Given the description of an element on the screen output the (x, y) to click on. 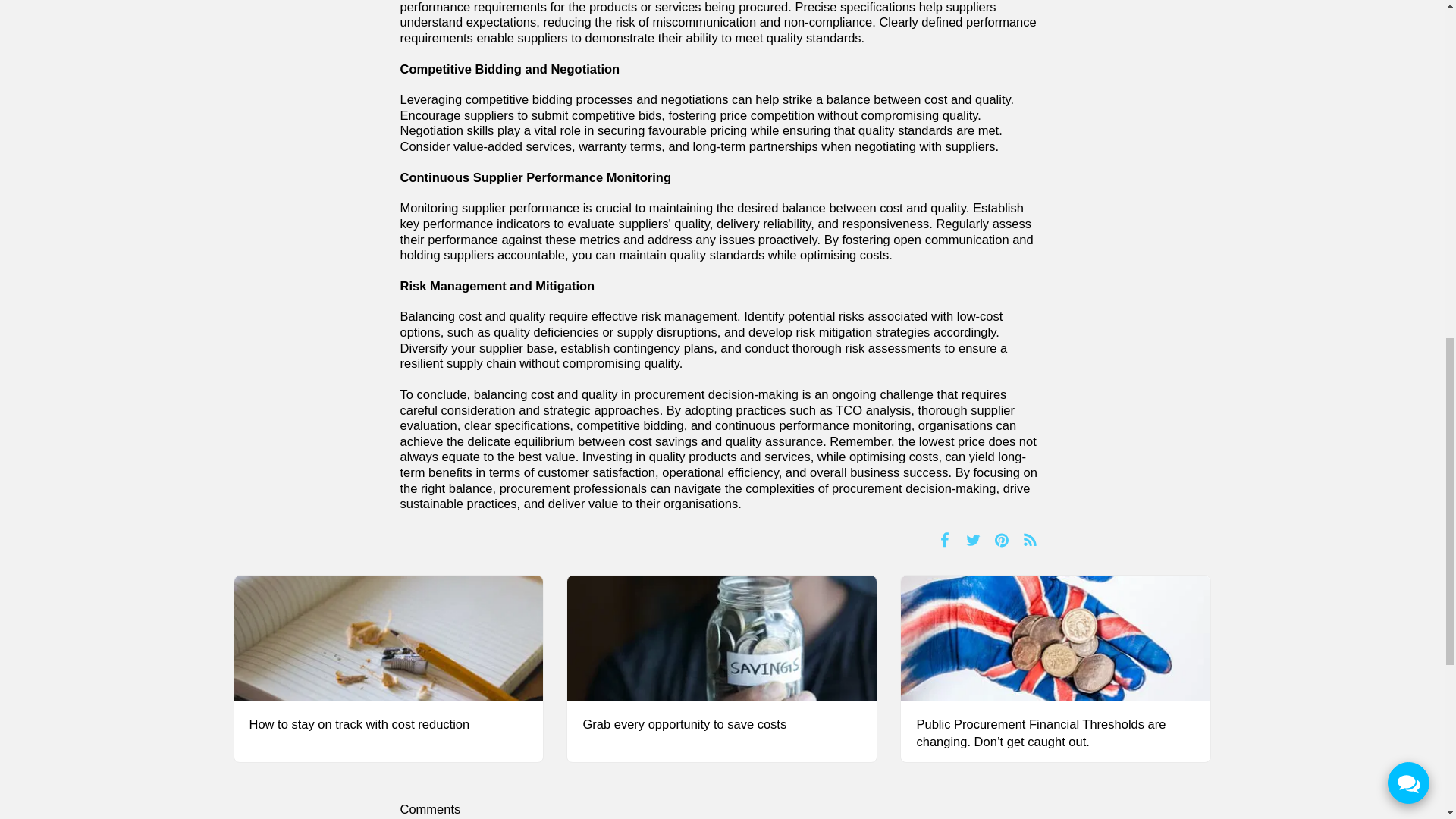
Share on Facebook (945, 539)
RSS (1029, 539)
Pin it (1002, 539)
Tweet (973, 539)
